Given the description of an element on the screen output the (x, y) to click on. 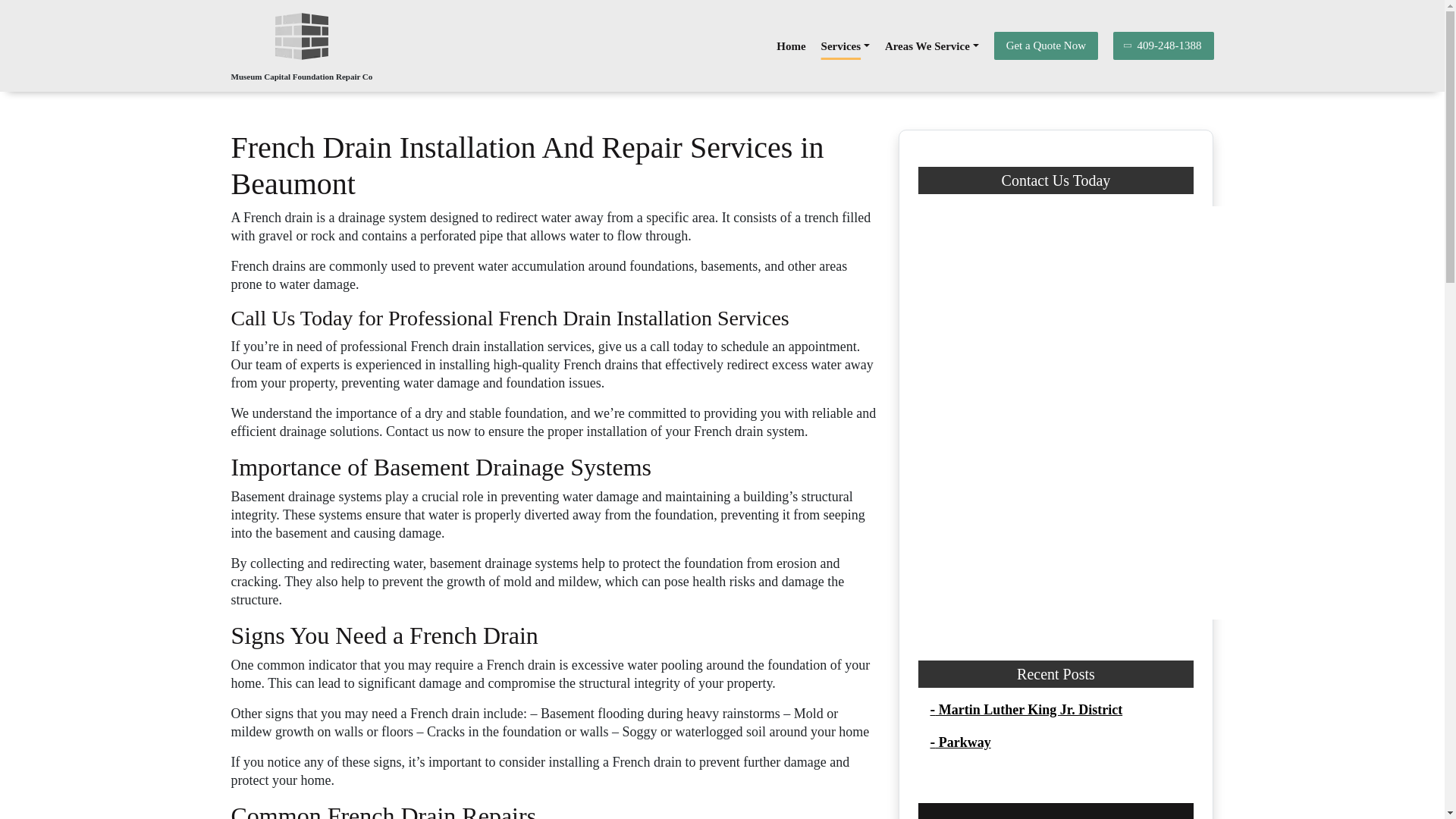
Get a Quote Now (1045, 45)
409-248-1388 (1162, 45)
Services (845, 45)
Areas We Service (931, 45)
Home (790, 45)
- Martin Luther King Jr. District (1026, 709)
Services (845, 45)
- Parkway (960, 742)
Areas We Service (931, 45)
Museum Capital Foundation Repair Co (301, 76)
